Given the description of an element on the screen output the (x, y) to click on. 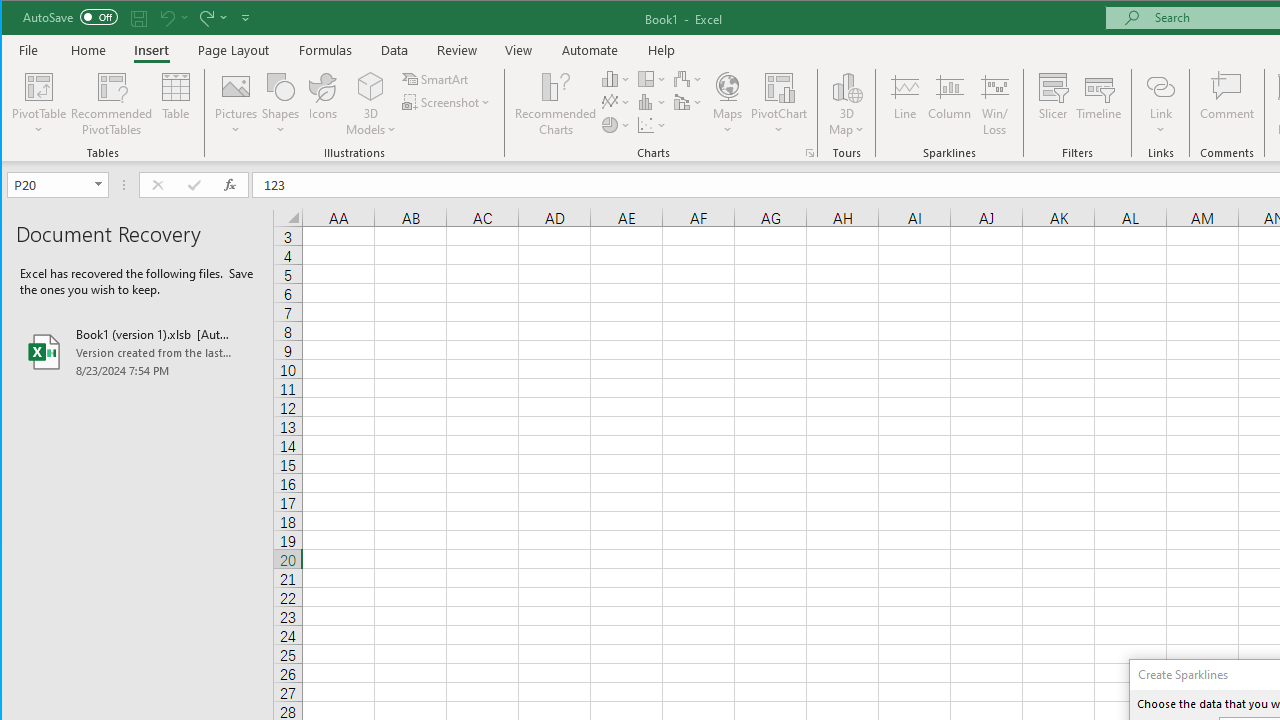
SmartArt... (436, 78)
Table (175, 104)
Insert Column or Bar Chart (616, 78)
Win/Loss (995, 104)
Insert Waterfall, Funnel, Stock, Surface, or Radar Chart (688, 78)
Link (1160, 104)
Pictures (235, 104)
Insert Statistic Chart (652, 101)
Recommended PivotTables (111, 104)
